Given the description of an element on the screen output the (x, y) to click on. 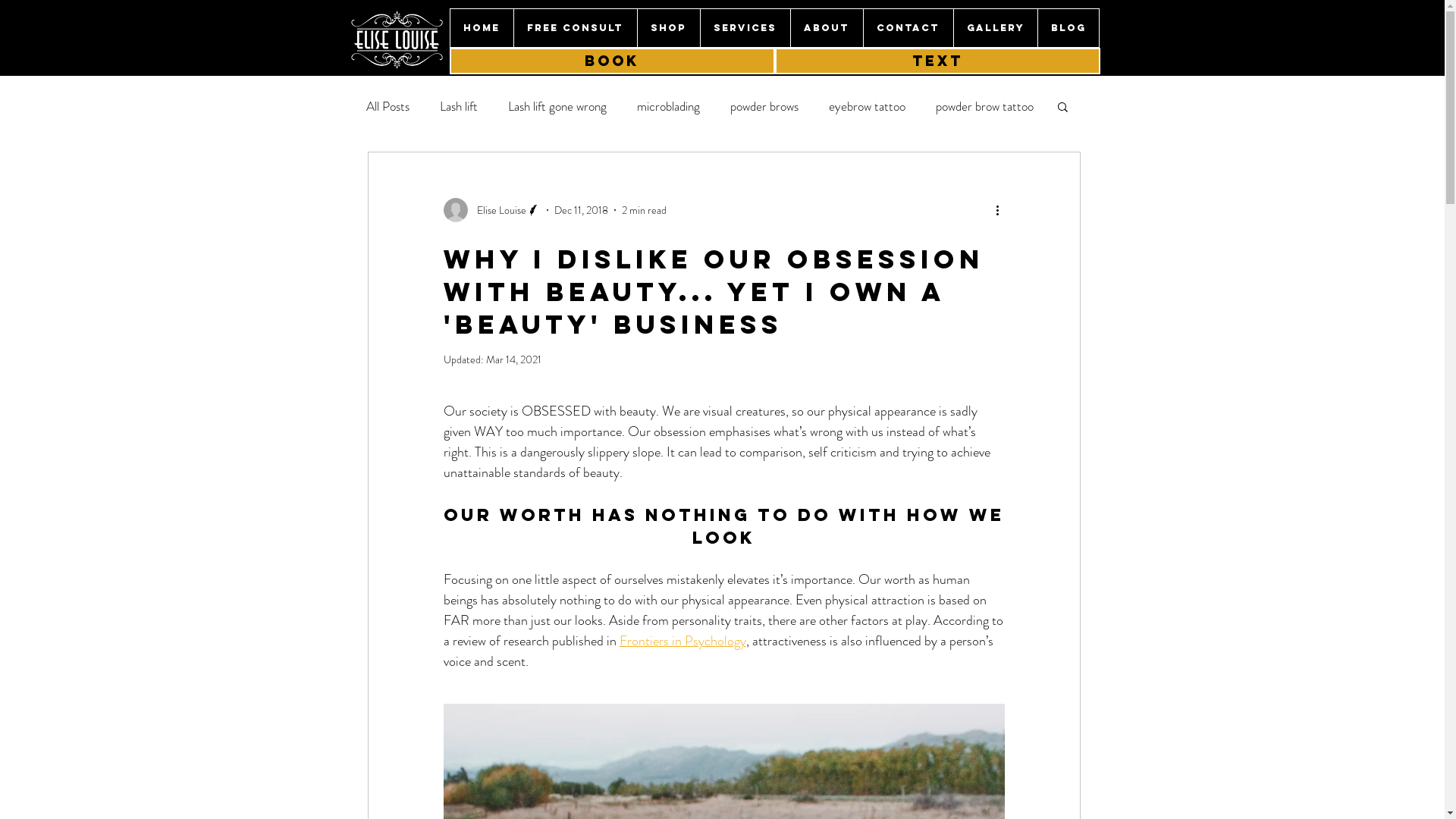
Text Element type: text (937, 60)
All Posts Element type: text (386, 106)
SHOP Element type: text (668, 28)
powder brow tattoo Element type: text (984, 106)
GALLERY Element type: text (994, 28)
FREE CONSULT Element type: text (574, 28)
Lash lift gone wrong Element type: text (557, 106)
CONTACT Element type: text (907, 28)
BLOG Element type: text (1067, 28)
Frontiers in Psychology Element type: text (681, 640)
Lash lift Element type: text (458, 106)
book Element type: text (611, 60)
HOME Element type: text (481, 28)
eyebrow tattoo Element type: text (866, 106)
microblading Element type: text (668, 106)
powder brows Element type: text (763, 106)
